Given the description of an element on the screen output the (x, y) to click on. 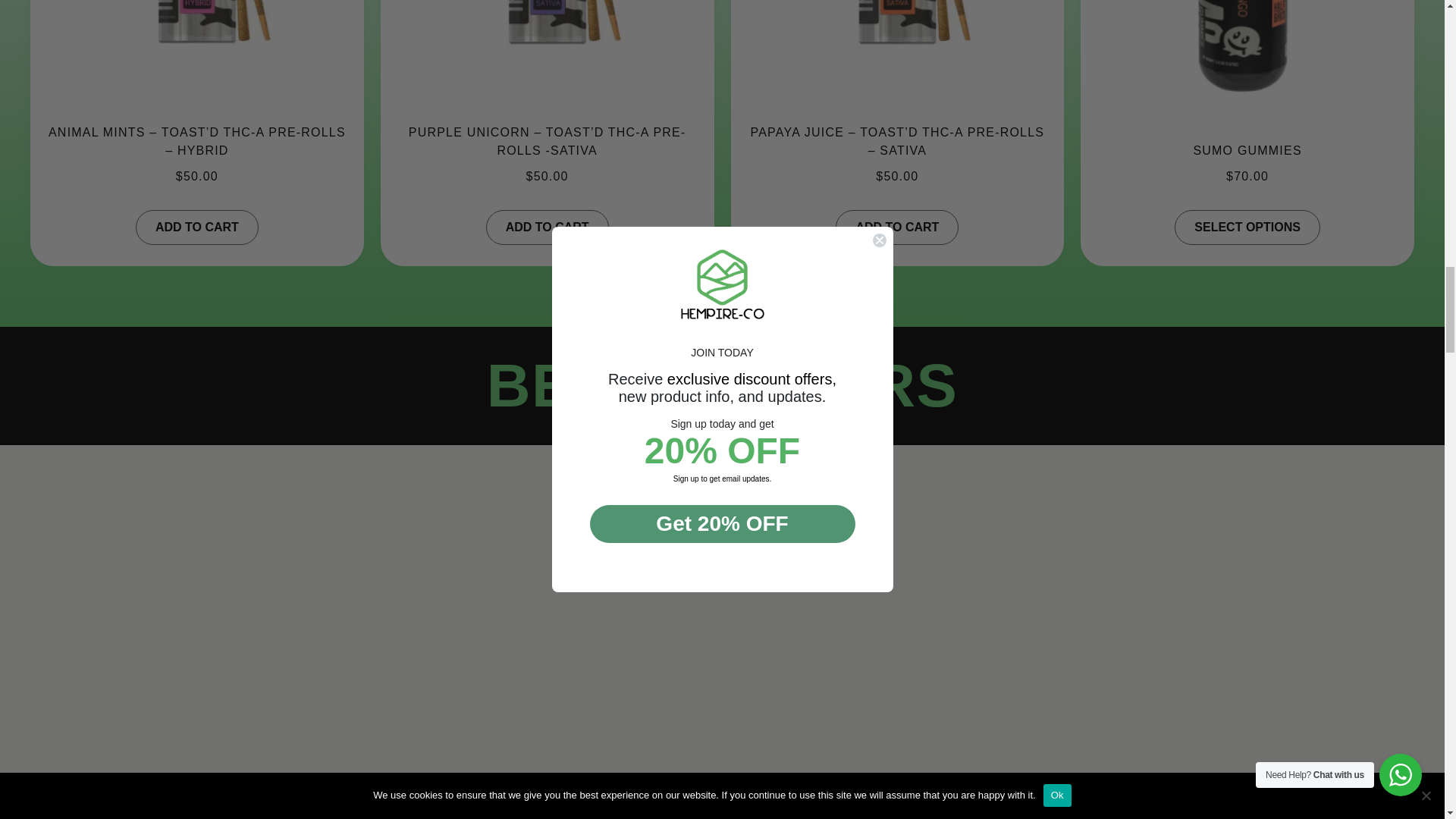
Home 2023 15 (197, 56)
Home 2023 16 (547, 56)
Home 2023 17 (897, 56)
